Given the description of an element on the screen output the (x, y) to click on. 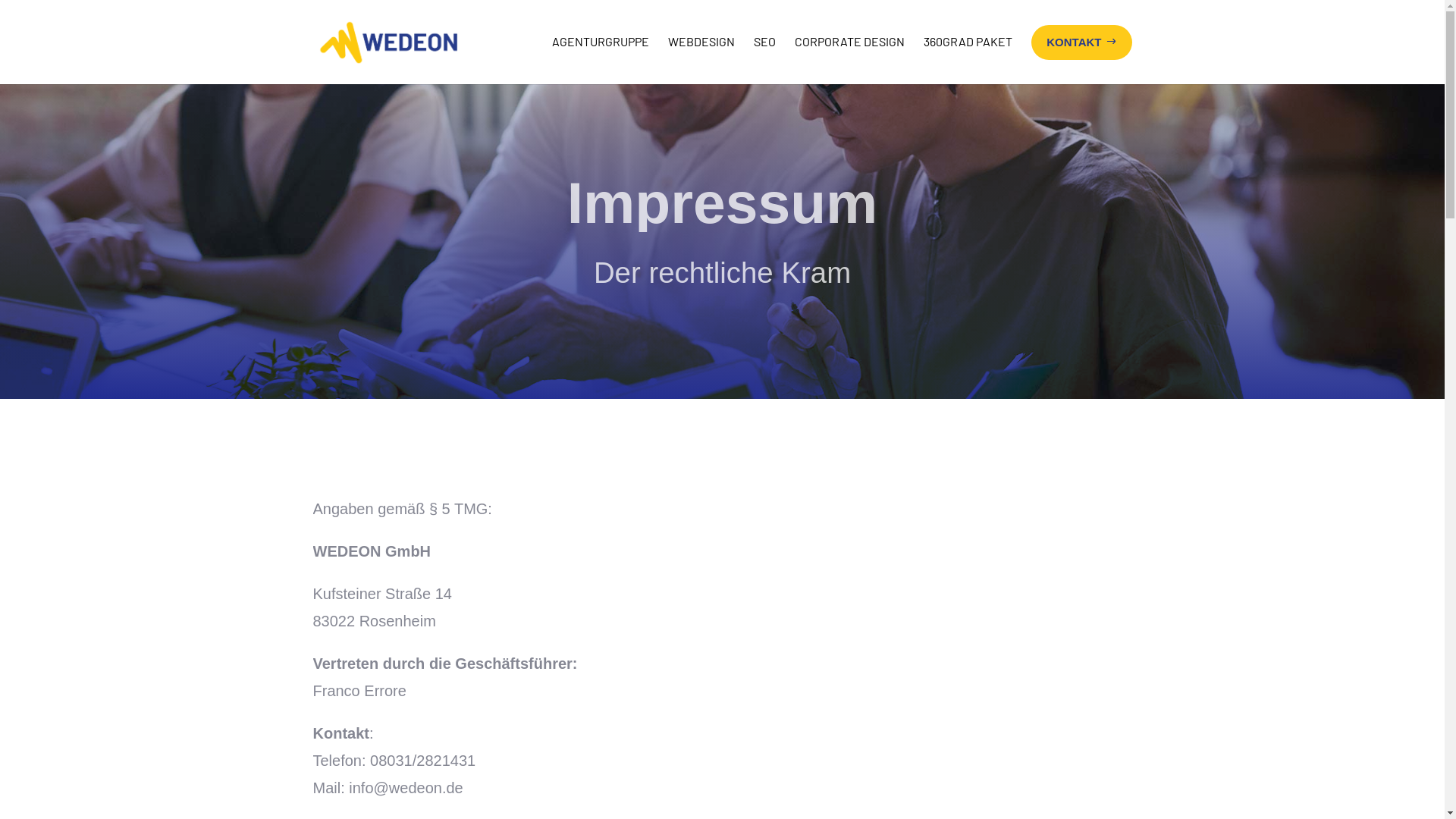
360GRAD PAKET Element type: text (967, 57)
CORPORATE DESIGN Element type: text (849, 57)
SEO Element type: text (764, 57)
AGENTURGRUPPE Element type: text (600, 57)
KONTAKT Element type: text (1081, 42)
WEBDESIGN Element type: text (701, 57)
